Given the description of an element on the screen output the (x, y) to click on. 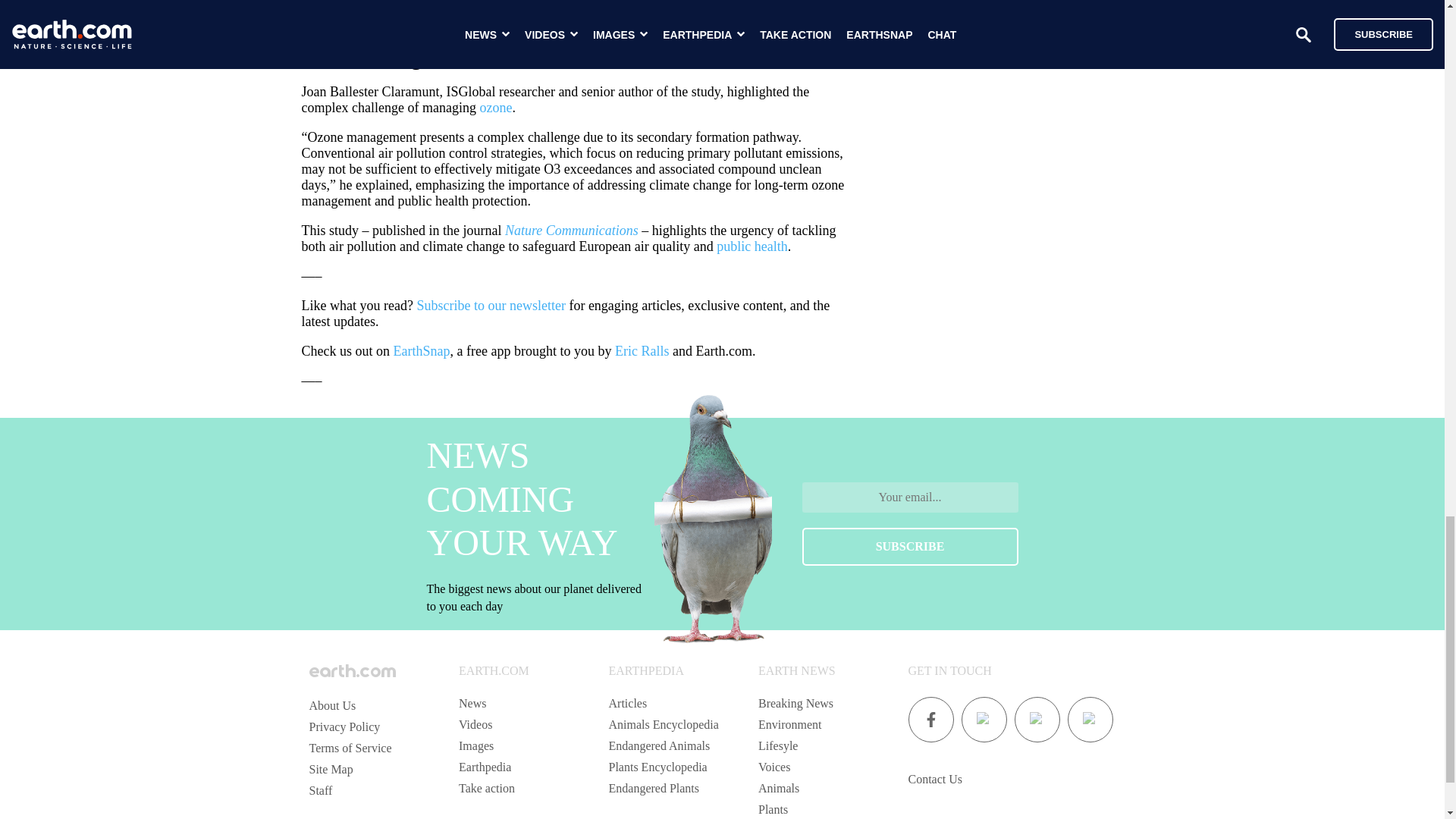
EarthSnap (421, 350)
public health (751, 246)
ozone (495, 107)
Subscribe to our newsletter (490, 305)
Eric Ralls (641, 350)
Nature Communications (572, 230)
